Given the description of an element on the screen output the (x, y) to click on. 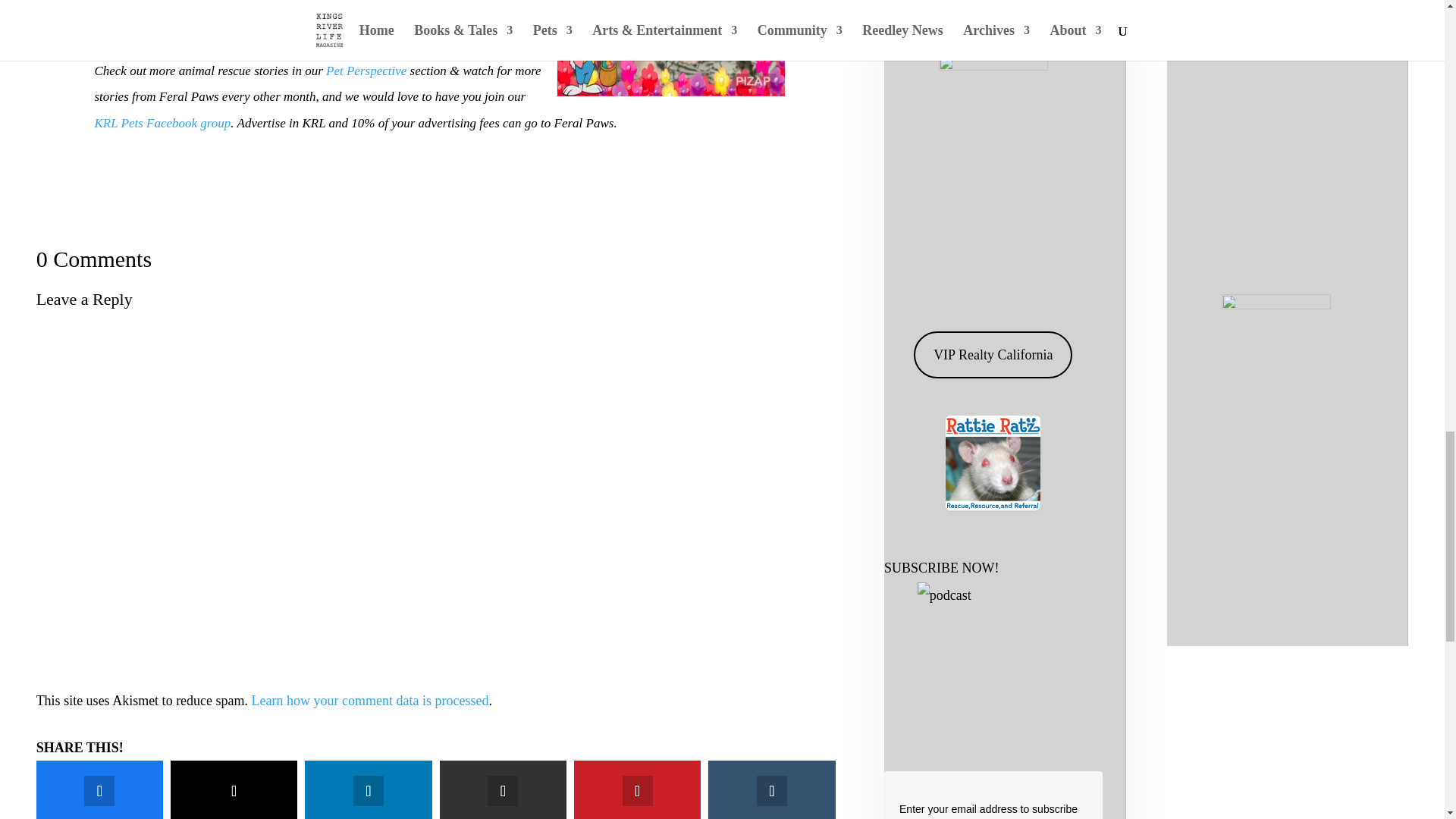
Subscribe now! (992, 657)
Opens to pet section (366, 70)
